Given the description of an element on the screen output the (x, y) to click on. 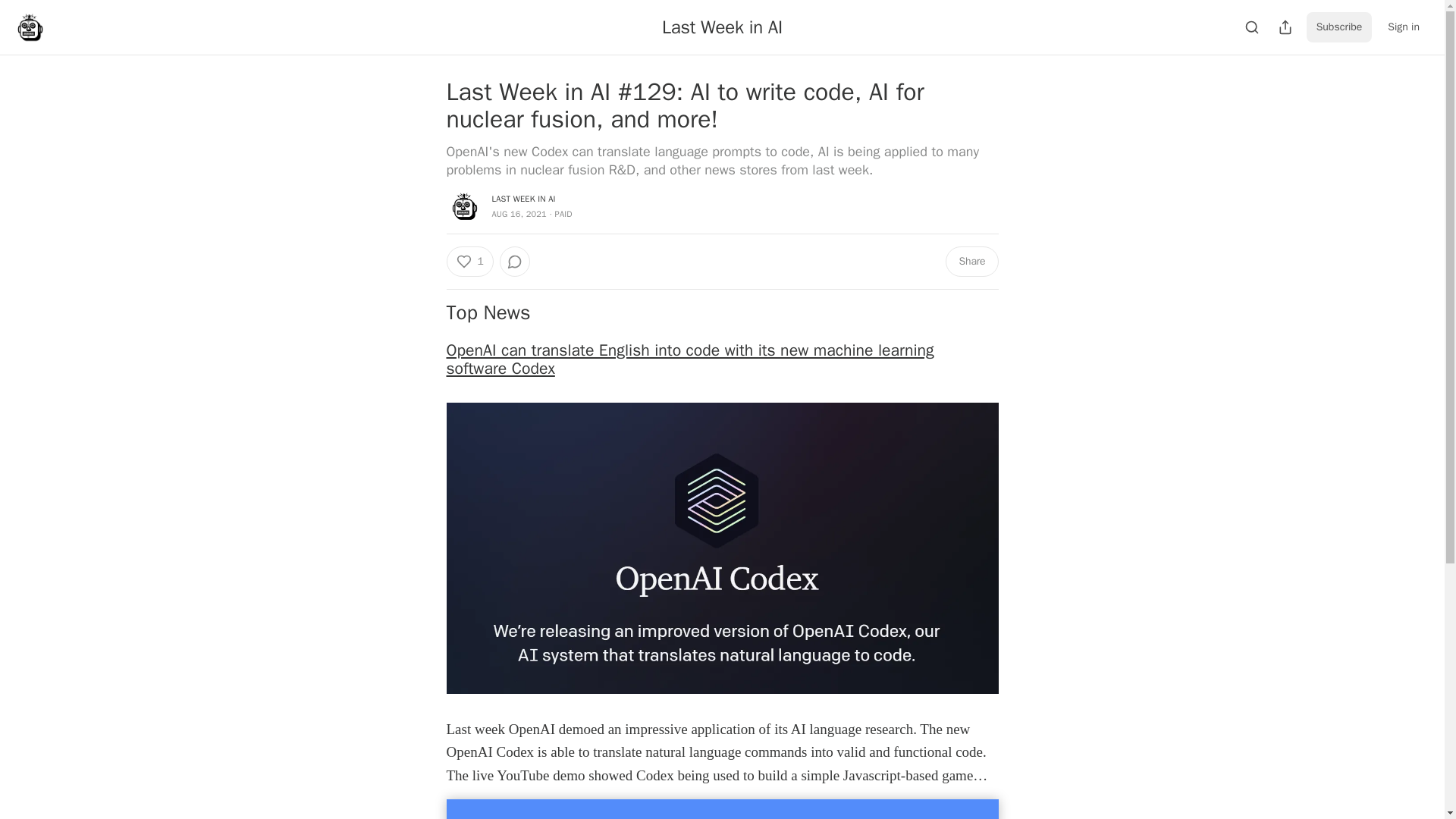
Last Week in AI (722, 26)
Share (970, 261)
Sign in (1403, 27)
LAST WEEK IN AI (523, 198)
Subscribe (1339, 27)
1 (469, 261)
